Given the description of an element on the screen output the (x, y) to click on. 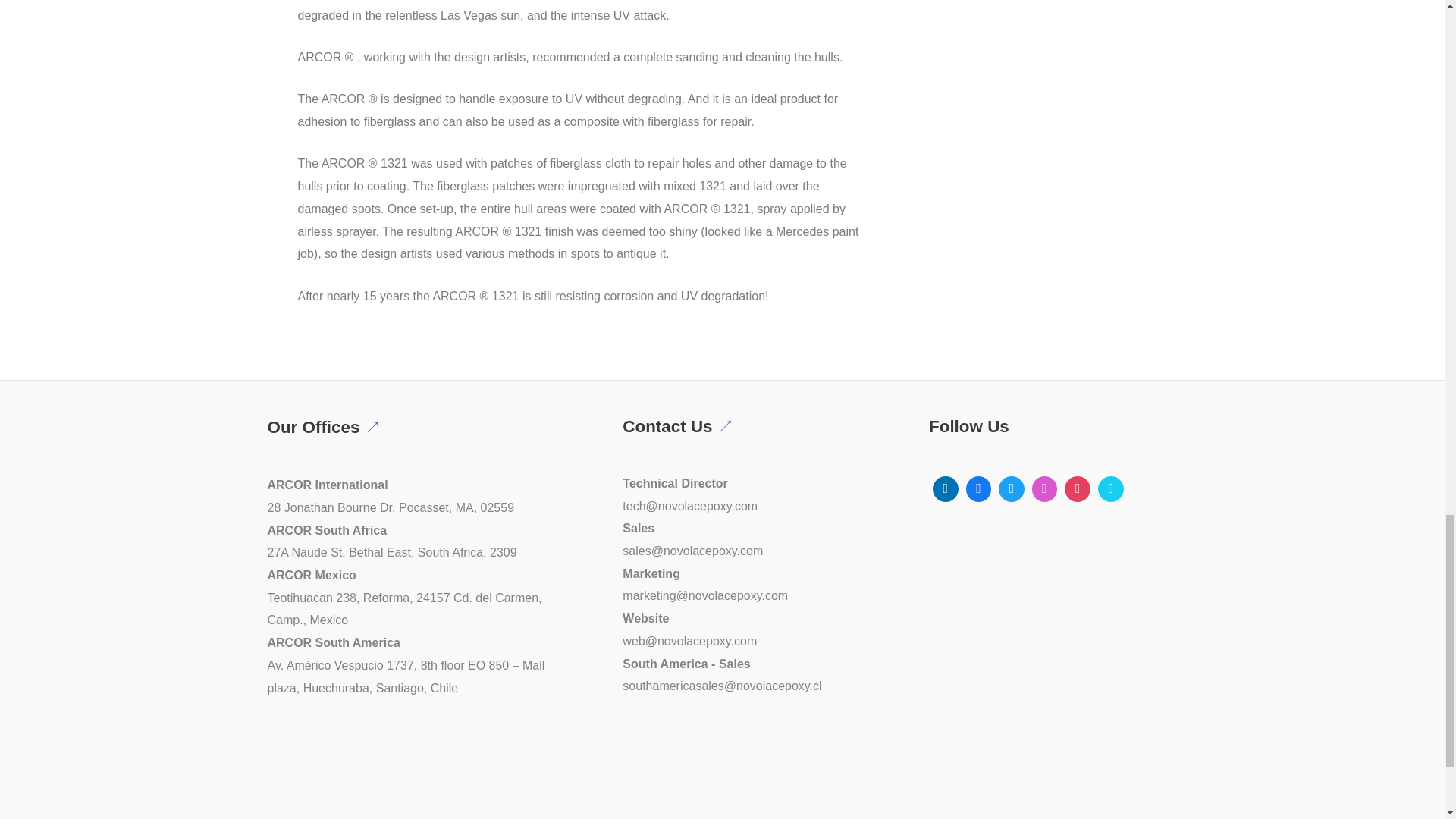
Linkedin (945, 489)
Youtube (1077, 489)
Facebook (978, 489)
Twitter (1010, 489)
Instagram (1044, 489)
Tiktok (1110, 489)
